Given the description of an element on the screen output the (x, y) to click on. 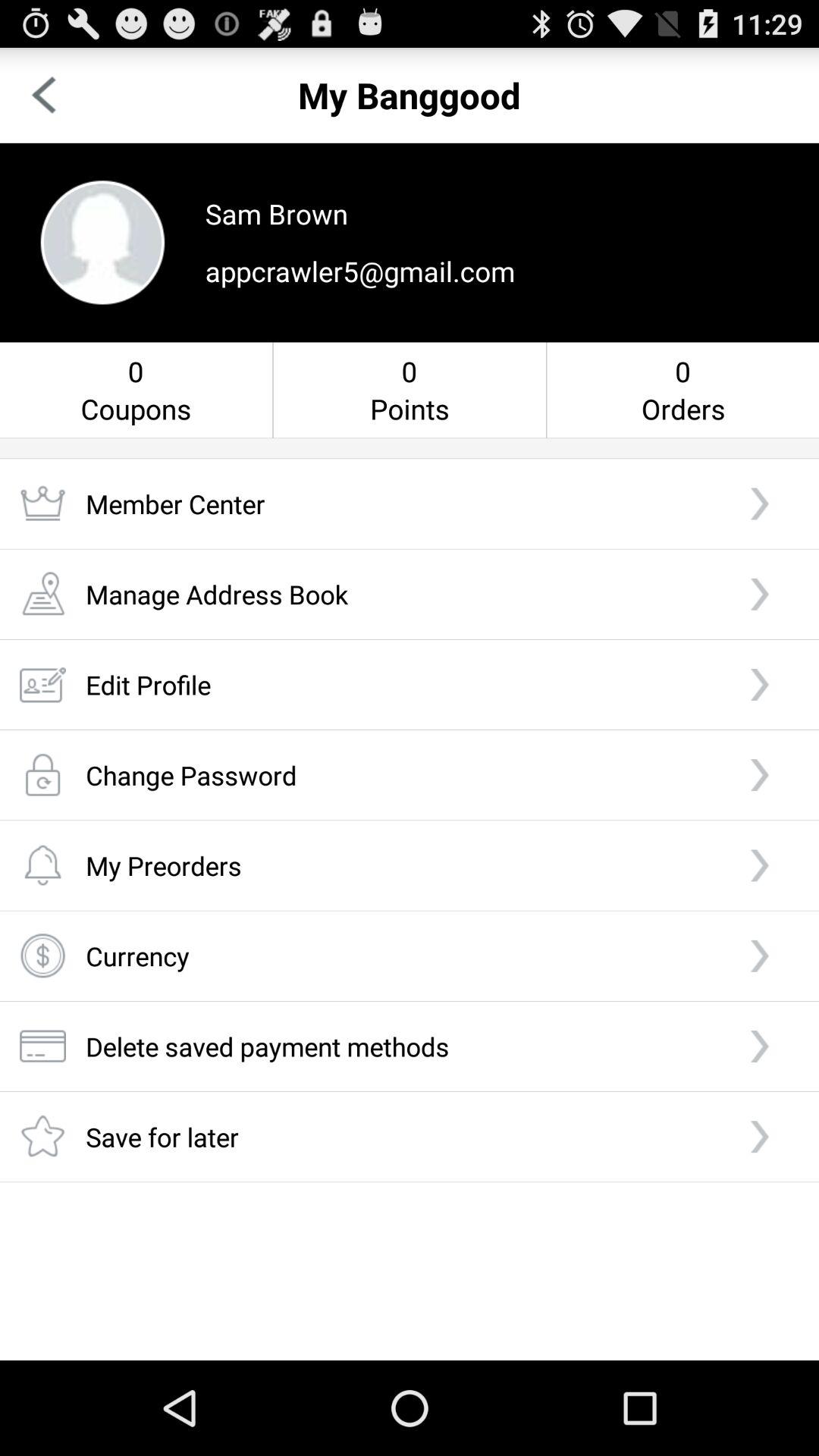
view profile (102, 242)
